Given the description of an element on the screen output the (x, y) to click on. 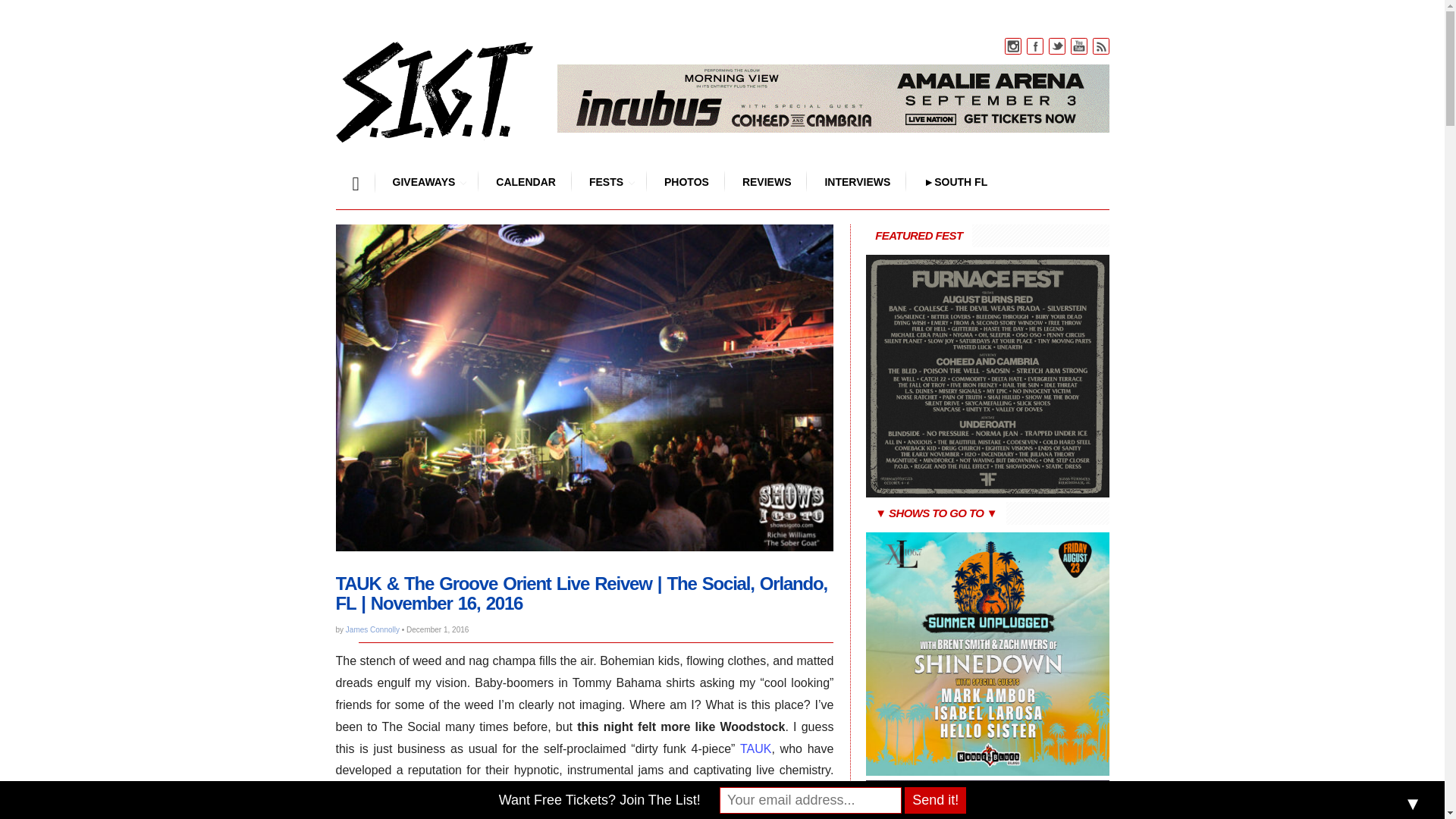
Facebook (1034, 46)
Free Concert Ticket Giveaways (423, 181)
Instagram (1013, 46)
Twitter (1056, 46)
Rss Feed (1100, 46)
TAUK (755, 748)
Instagram (1013, 46)
REVIEWS (766, 181)
Artist and Band Interviews (857, 181)
Posts by James Connolly (372, 629)
